Given the description of an element on the screen output the (x, y) to click on. 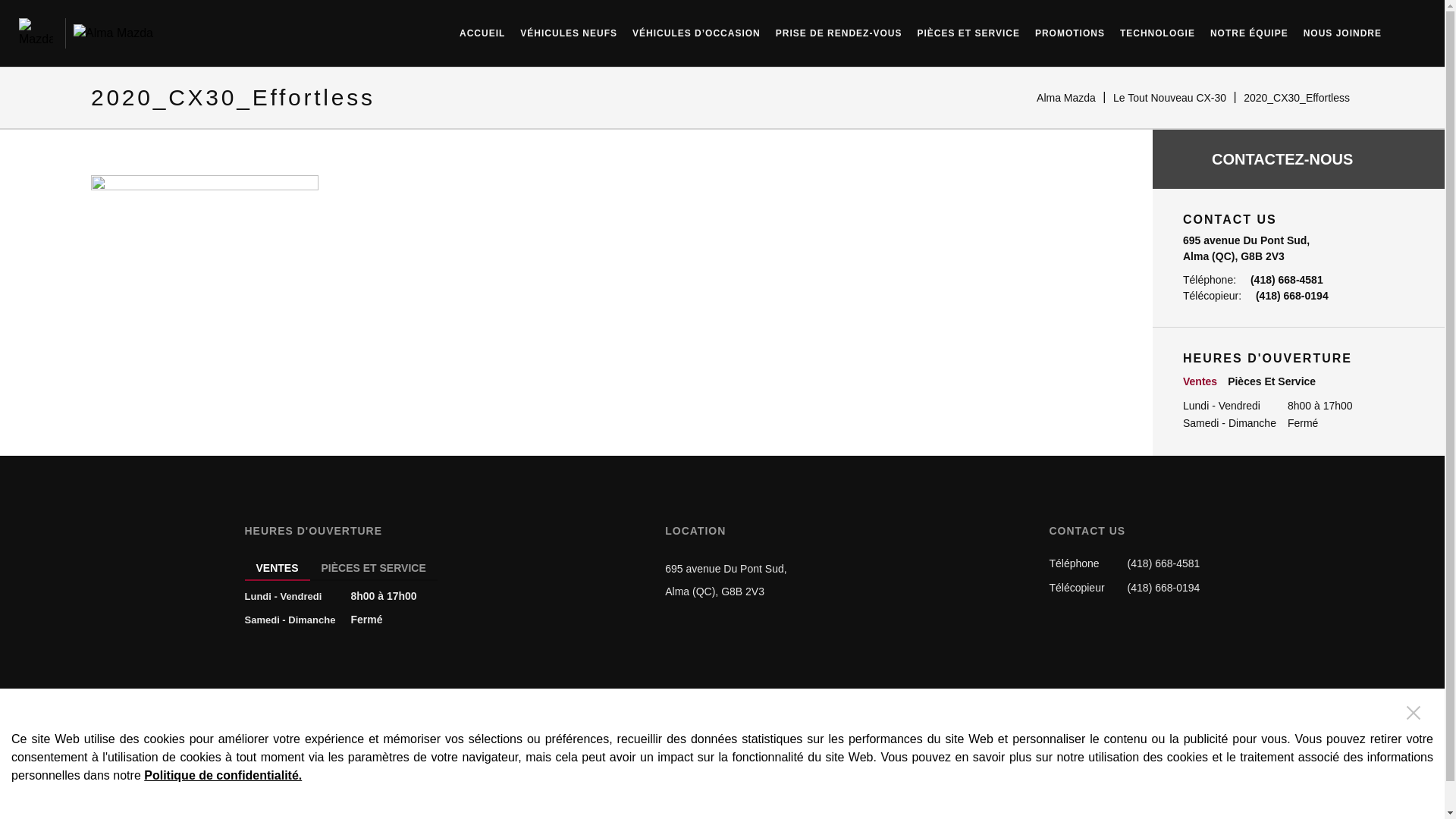
(418) 668-4581 Element type: text (1163, 563)
PRISE DE RENDEZ-VOUS Element type: text (838, 30)
695 avenue Du Pont Sud,
Alma (QC), G8B 2V3 Element type: text (1246, 248)
695 avenue Du Pont Sud,
Alma (QC), G8B 2V3 Element type: text (725, 579)
ACCUEIL Element type: text (496, 715)
 Alma Mazda Element type: hover (113, 33)
NOUS JOINDRE Element type: text (1342, 30)
ACCUEIL Element type: text (482, 30)
Mazda Element type: hover (35, 33)
NOUS JOINDRE Element type: text (928, 715)
Alma Mazda Element type: text (1065, 97)
Le Tout Nouveau CX-30 Element type: text (1169, 97)
TECHNOLOGIE Element type: text (1157, 30)
(418) 668-0194 Element type: text (1163, 587)
FACEBOOK Element type: text (722, 768)
CONTACTEZ-NOUS Element type: text (1298, 158)
PROMOTIONS Element type: text (1069, 30)
